Given the description of an element on the screen output the (x, y) to click on. 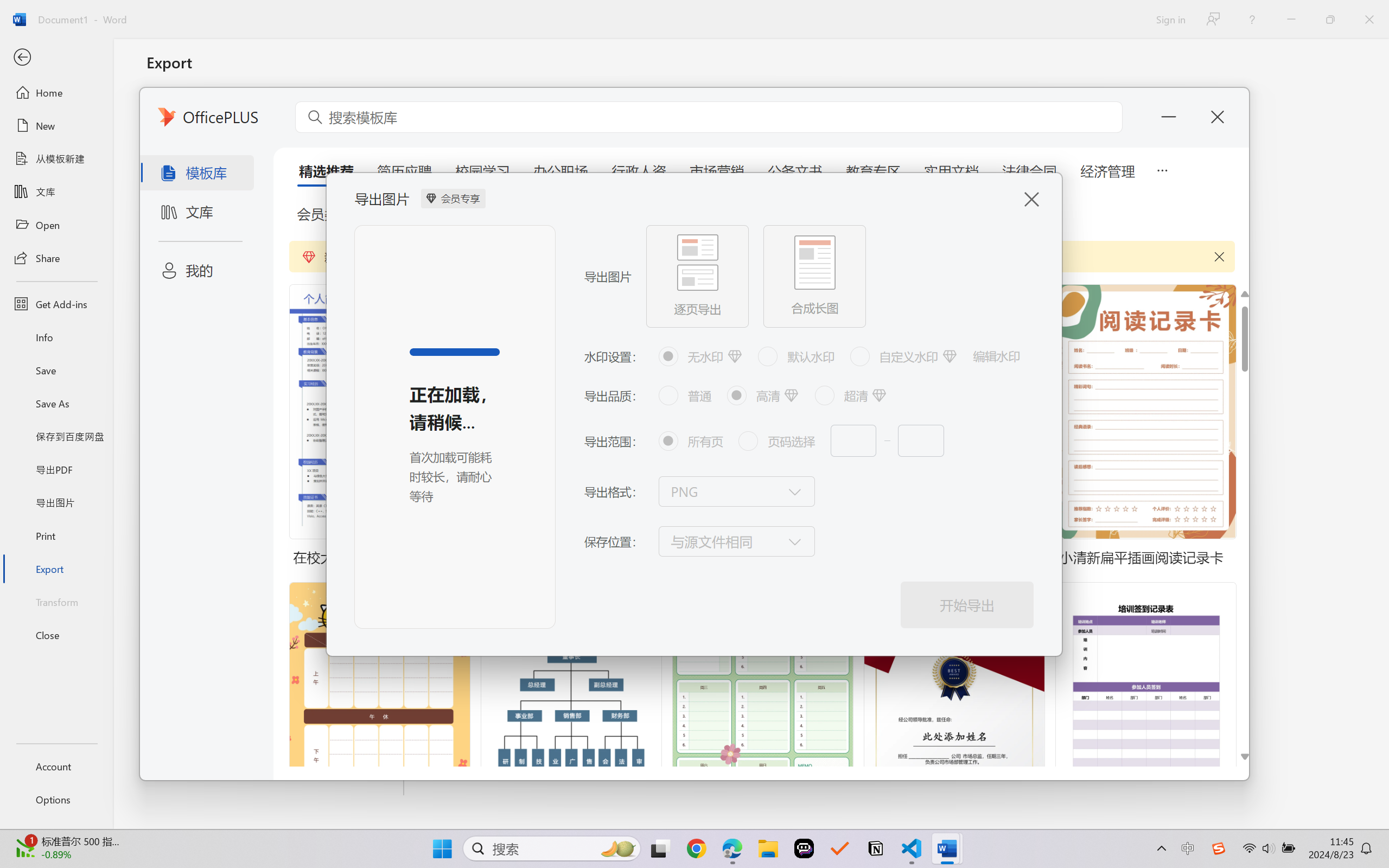
Save As (56, 403)
5 more tabs (1161, 169)
Transform (56, 601)
